Given the description of an element on the screen output the (x, y) to click on. 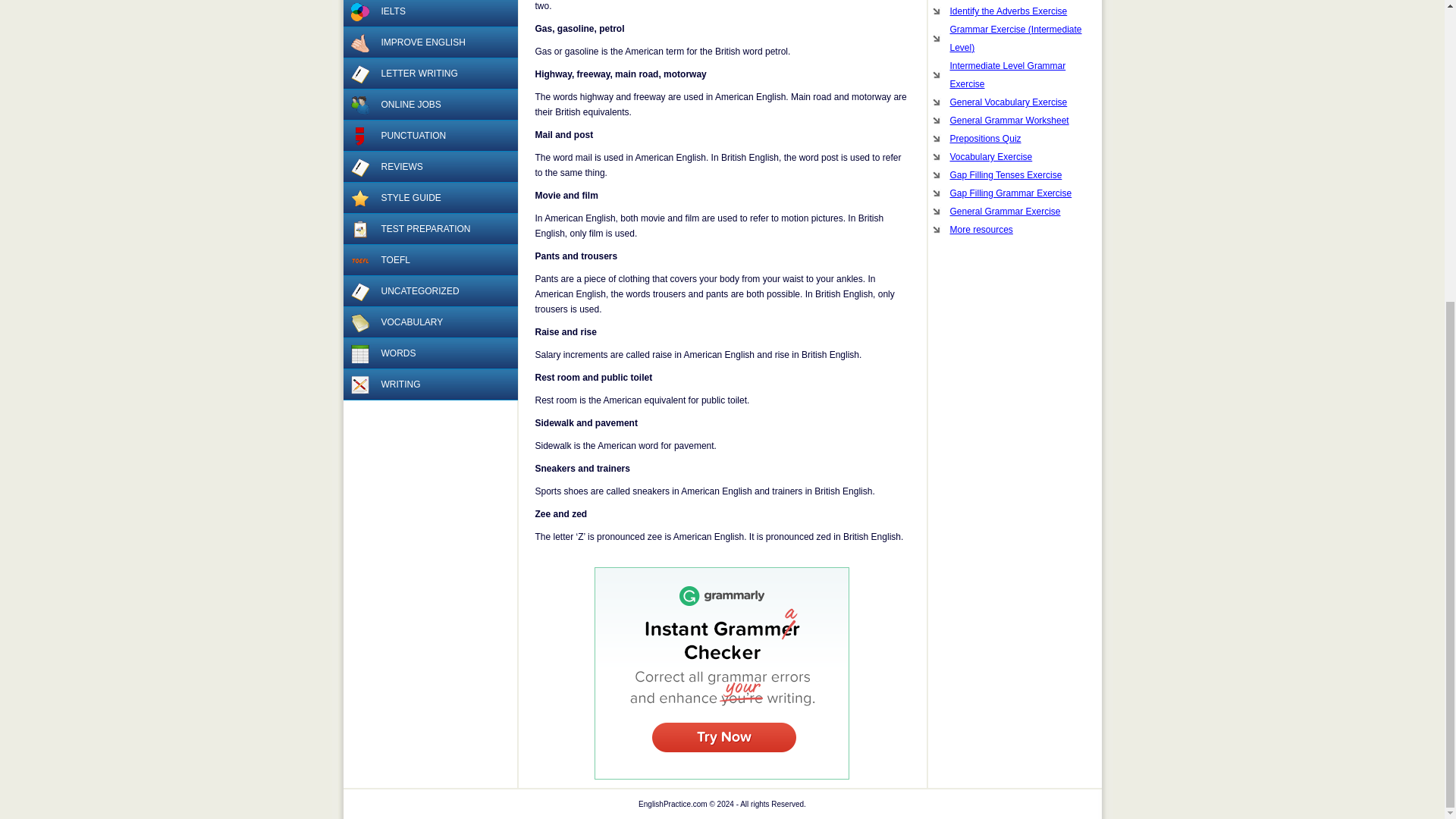
UNCATEGORIZED (429, 291)
VOCABULARY (429, 322)
TEST PREPARATION (429, 228)
WRITING (429, 384)
REVIEWS (429, 166)
PUNCTUATION (429, 135)
IMPROVE ENGLISH (429, 42)
STYLE GUIDE (429, 197)
ONLINE JOBS (429, 104)
WORDS (429, 353)
